Given the description of an element on the screen output the (x, y) to click on. 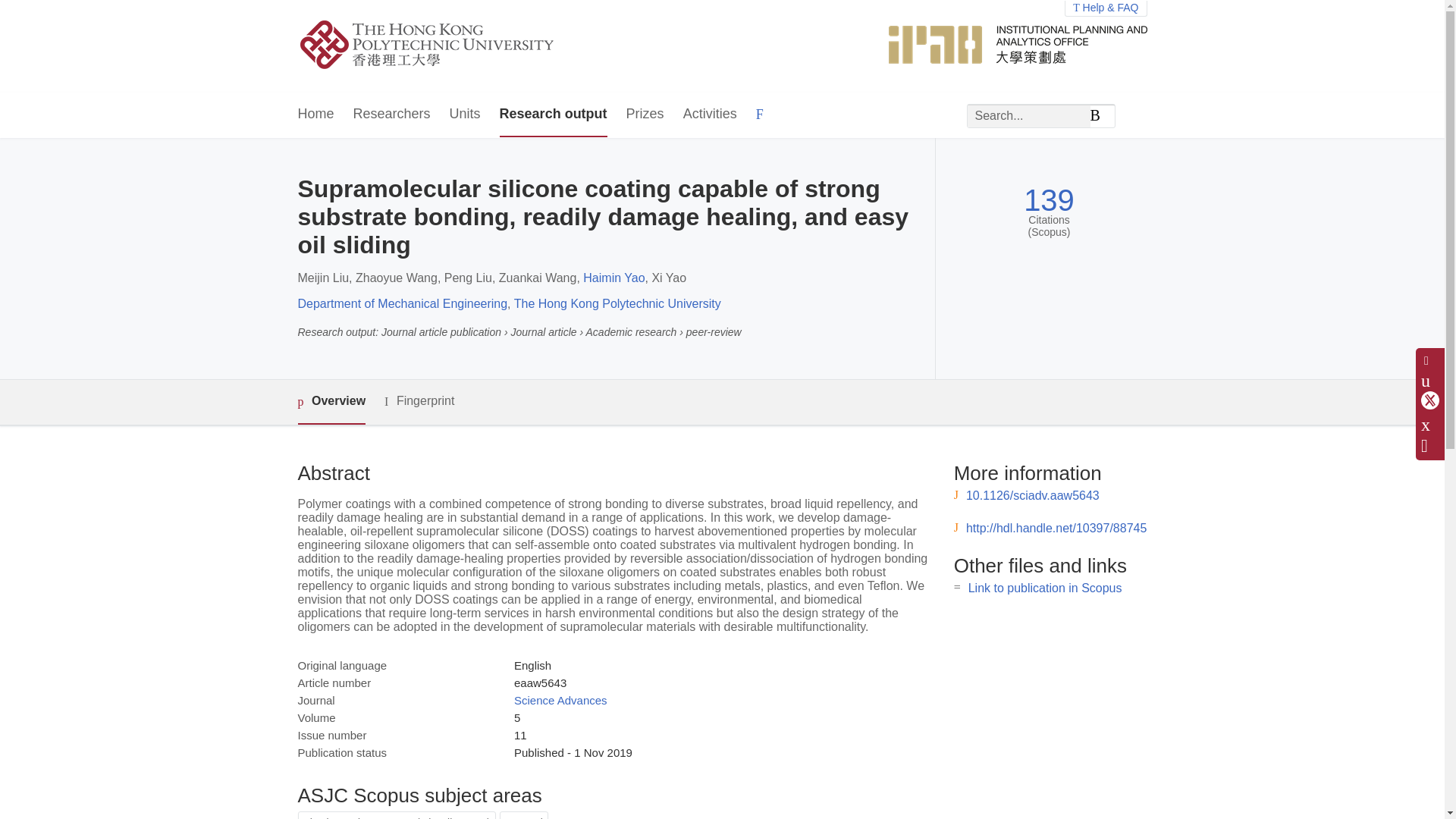
Research output (553, 114)
Overview (331, 402)
Link to publication in Scopus (1045, 587)
Activities (709, 114)
The Hong Kong Polytechnic University (616, 303)
Science Advances (560, 699)
139 (1048, 200)
Haimin Yao (614, 277)
Department of Mechanical Engineering (401, 303)
Researchers (391, 114)
Fingerprint (419, 401)
PolyU Scholars Hub Home (444, 46)
